Given the description of an element on the screen output the (x, y) to click on. 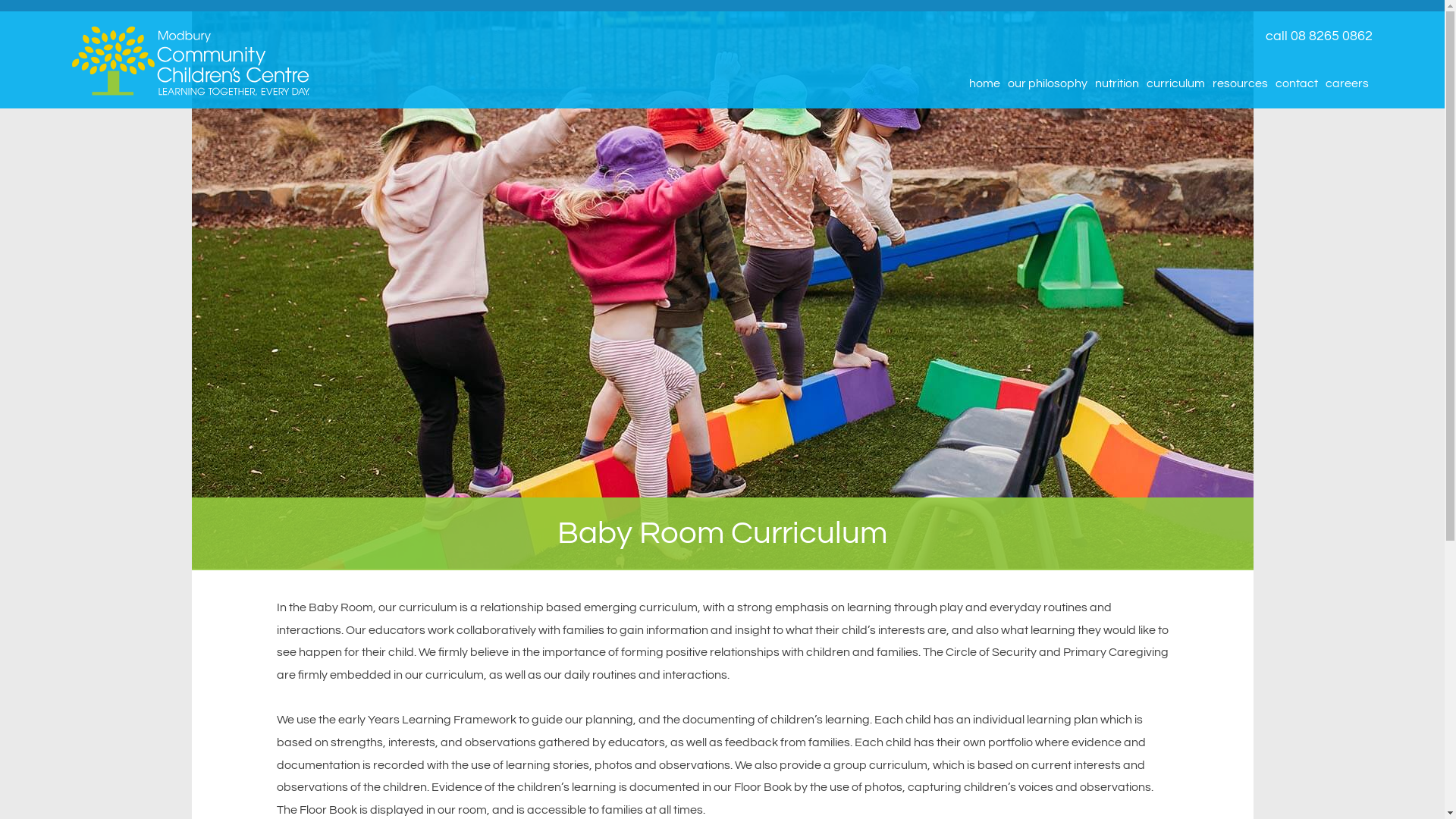
home Element type: text (984, 84)
curriculum Element type: text (1175, 84)
careers Element type: text (1346, 84)
call 08 8265 0862 Element type: text (917, 36)
resources Element type: text (1239, 84)
nutrition Element type: text (1116, 84)
our philosophy Element type: text (1047, 84)
contact Element type: text (1296, 84)
